Given the description of an element on the screen output the (x, y) to click on. 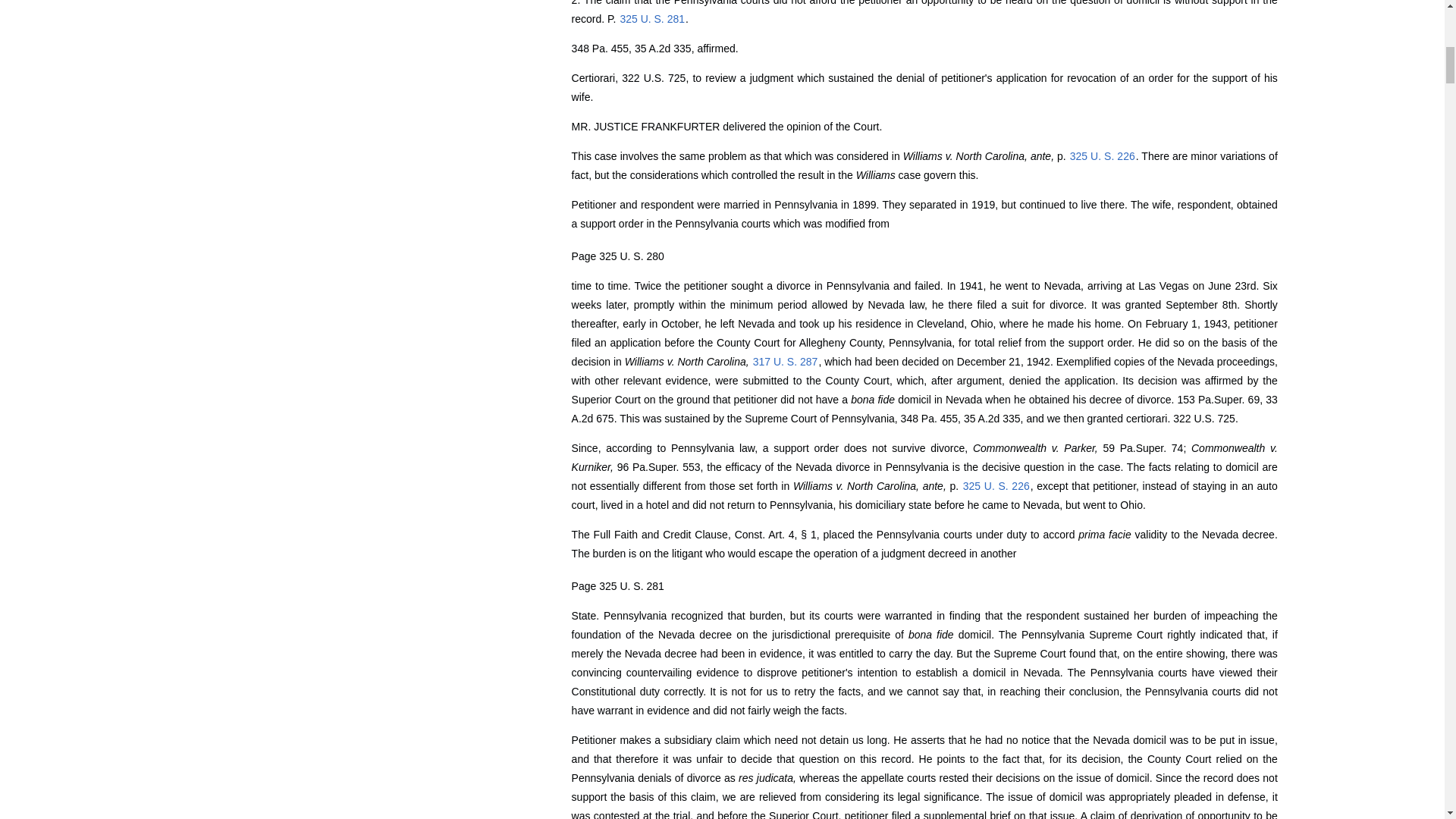
325 U. S. 226 (1101, 155)
325 U. S. 226 (996, 485)
ChanRobles MCLE On-line (252, 68)
317 U. S. 287 (785, 361)
325 U. S. 281 (651, 19)
Page 325 U. S. 281 (617, 585)
Page 325 U. S. 280 (617, 256)
